Given the description of an element on the screen output the (x, y) to click on. 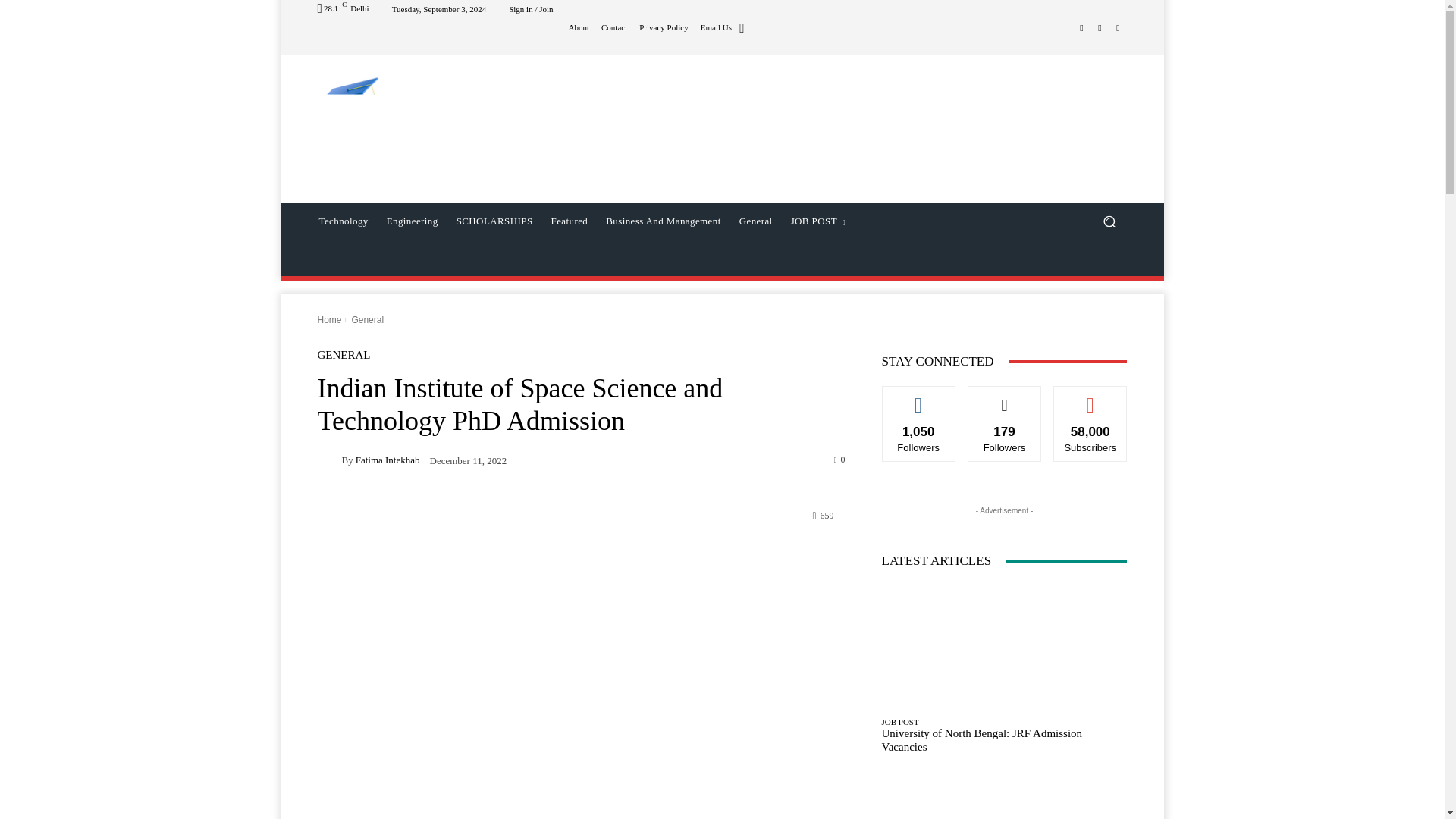
Business And Management (662, 221)
About (579, 27)
SCHOLARSHIPS (493, 221)
Engineering (411, 221)
Featured (568, 221)
View all posts in General (367, 319)
Privacy Policy (663, 27)
Technology (342, 221)
Telegram (1099, 27)
Instagram (1080, 27)
